Given the description of an element on the screen output the (x, y) to click on. 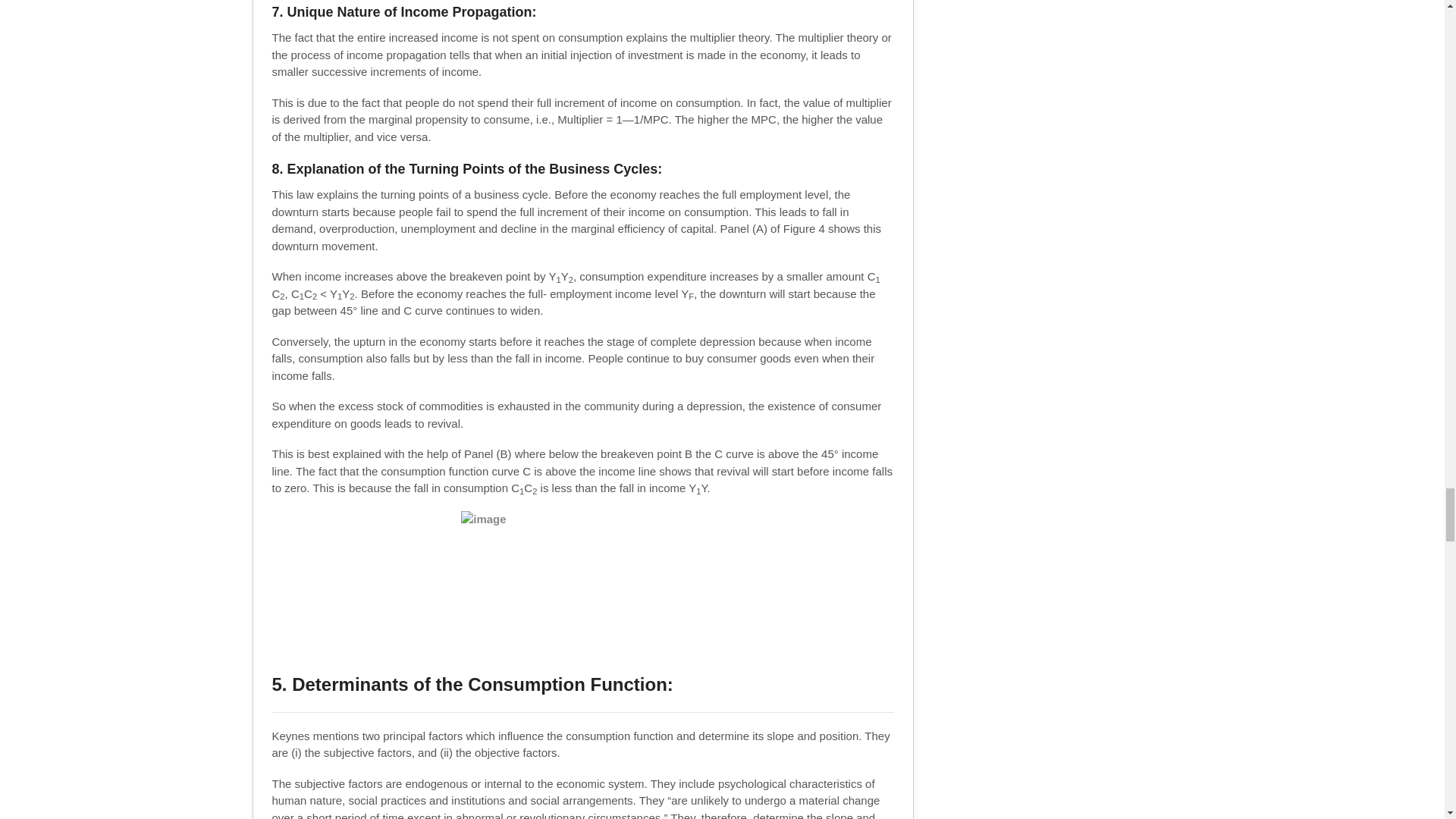
image (582, 584)
